Given the description of an element on the screen output the (x, y) to click on. 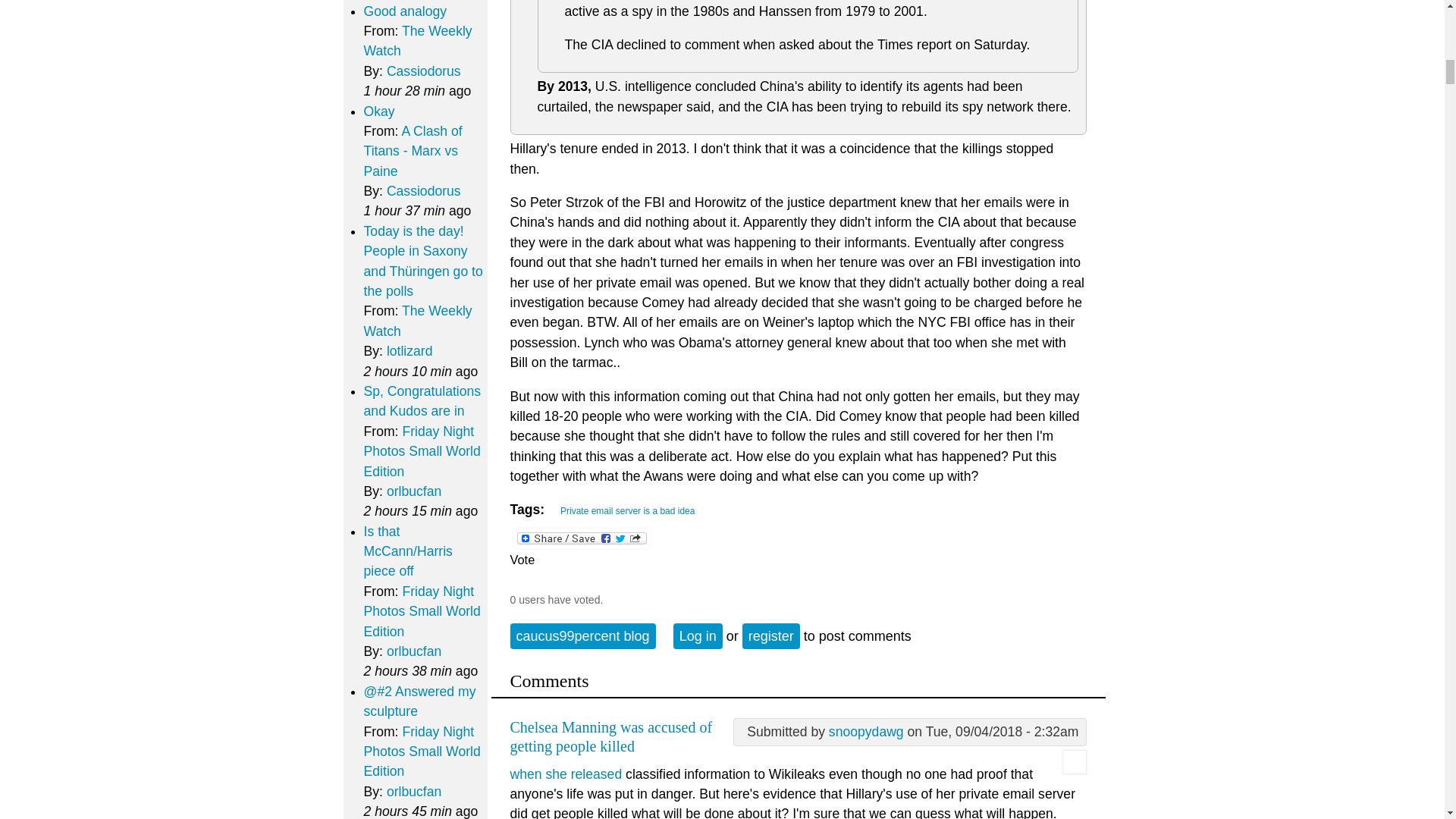
View user profile. (866, 731)
when she released (565, 774)
caucus99percent blog (582, 636)
Read the latest caucus99percent blog entries. (582, 636)
Log in (697, 636)
View user profile. (1073, 769)
snoopydawg (866, 731)
Private email server is a bad idea (624, 509)
register (770, 636)
snoopydawg's picture (1073, 761)
